Given the description of an element on the screen output the (x, y) to click on. 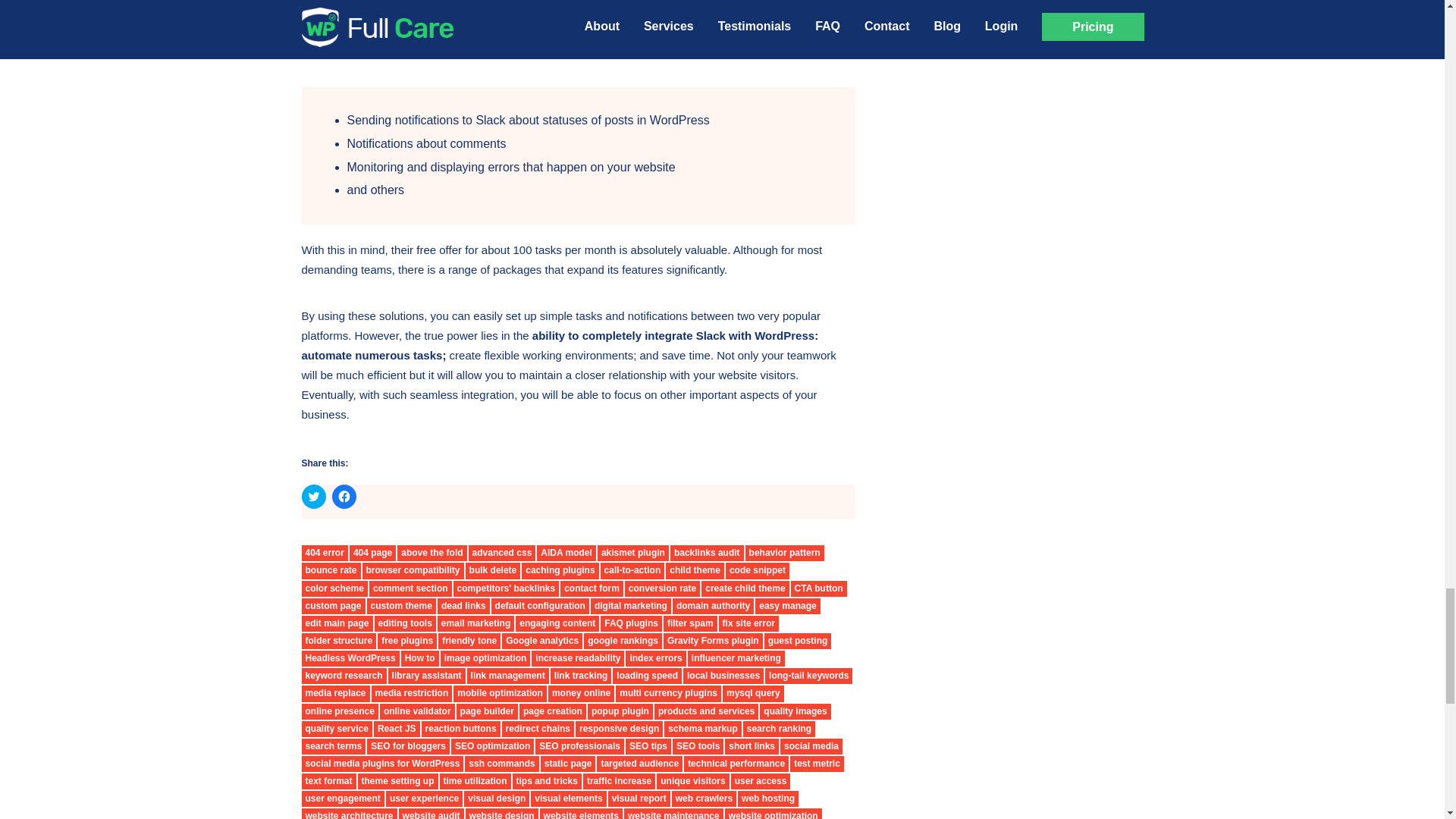
akismet plugin (632, 553)
competitors' backlinks (505, 588)
404 page (372, 553)
AIDA model (566, 553)
bounce rate (331, 570)
Click to share on Twitter (313, 496)
conversion rate (662, 588)
child theme (694, 570)
bulk delete (493, 570)
advanced css (501, 553)
